Given the description of an element on the screen output the (x, y) to click on. 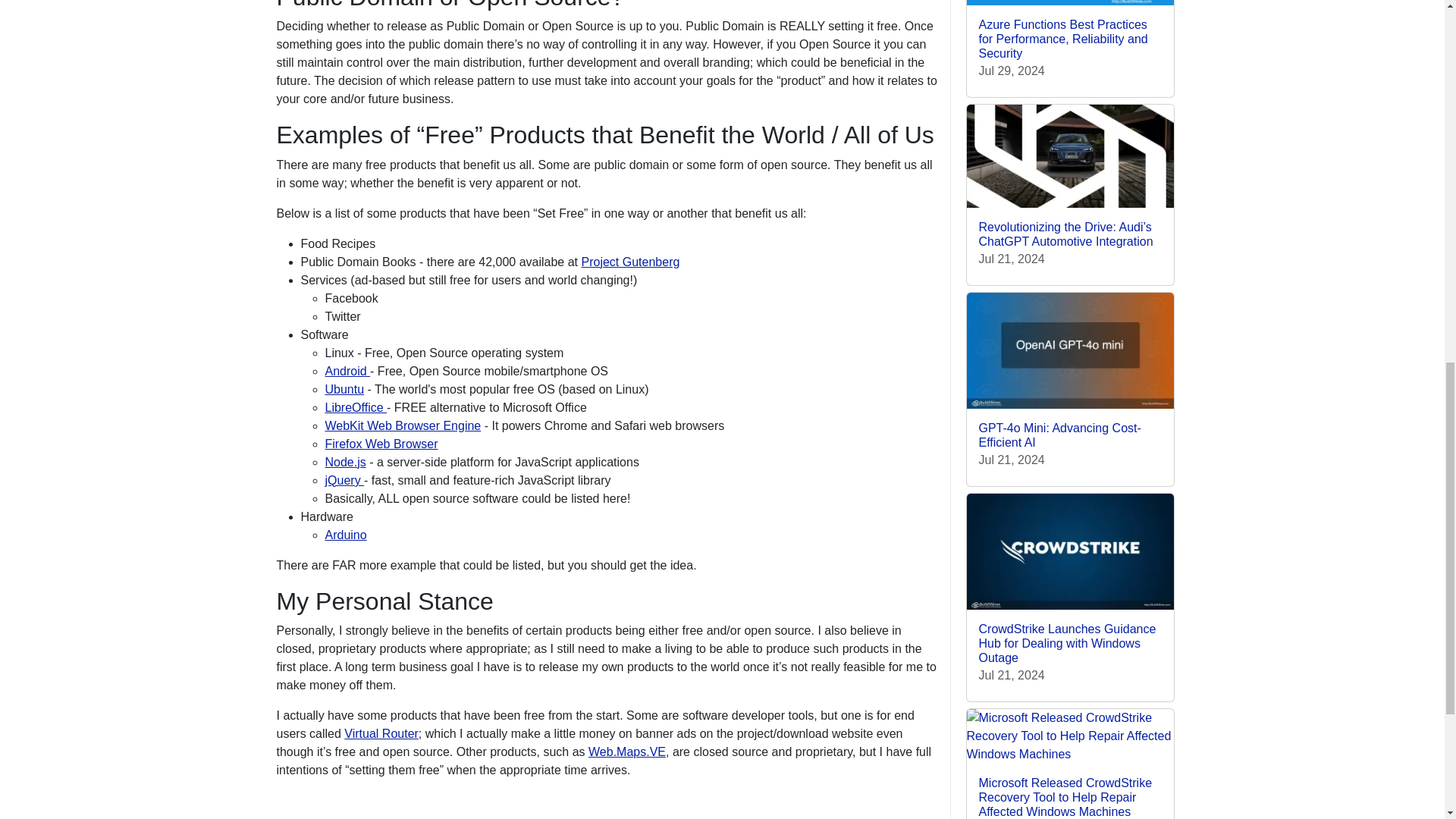
Arduino (345, 534)
GPT-4o Mini: Advancing Cost-Efficient AI (1059, 434)
Android (346, 370)
Firefox Web Browser (381, 443)
Web.Maps.VE (626, 751)
WebKit Web Browser Engine (402, 425)
jQuery (344, 480)
Project Gutenberg (629, 261)
Node.js (344, 461)
LibreOffice (355, 407)
Virtual Router (381, 733)
Ubuntu (344, 389)
